Given the description of an element on the screen output the (x, y) to click on. 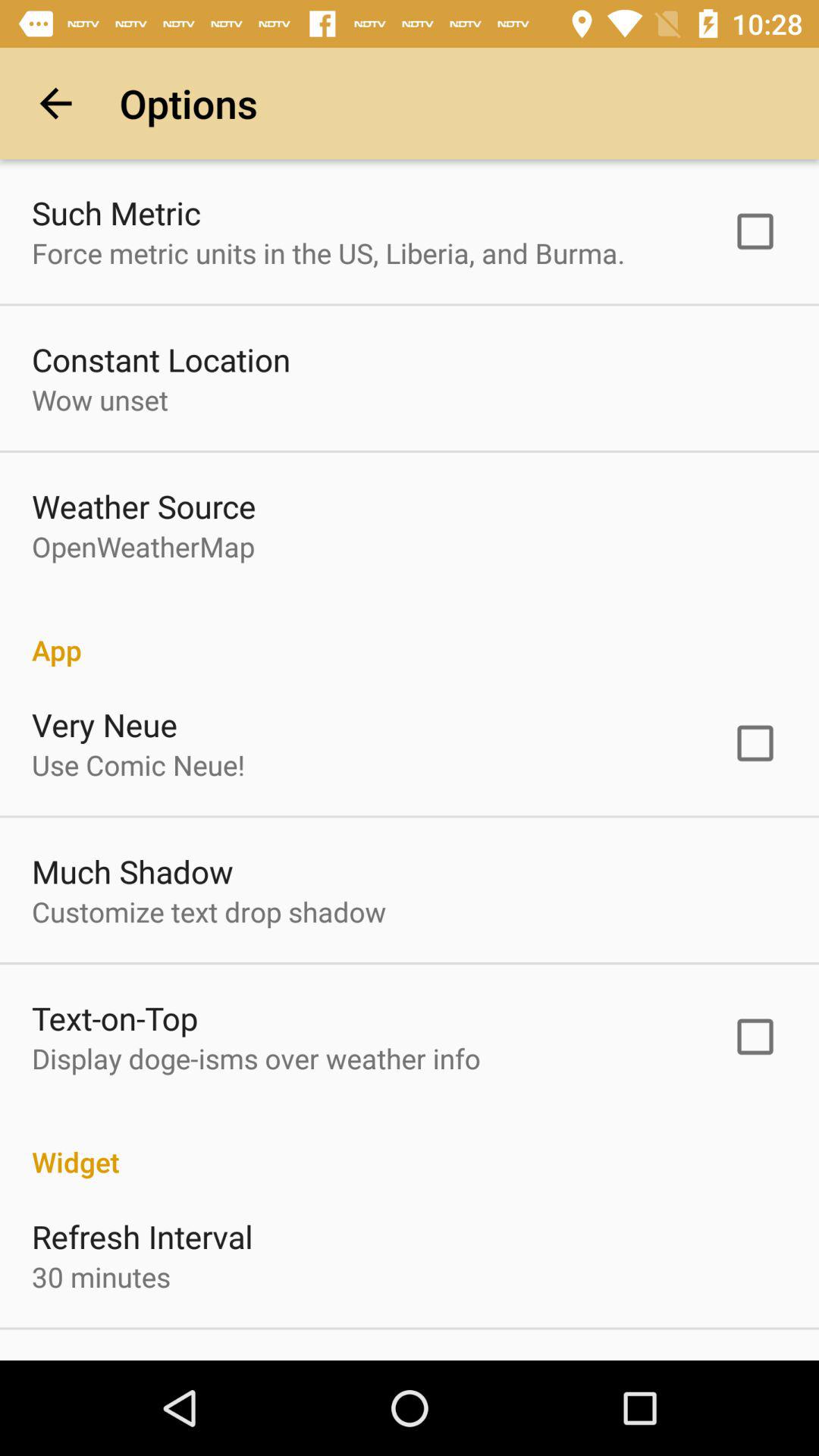
click the box in the first row (755, 231)
